Given the description of an element on the screen output the (x, y) to click on. 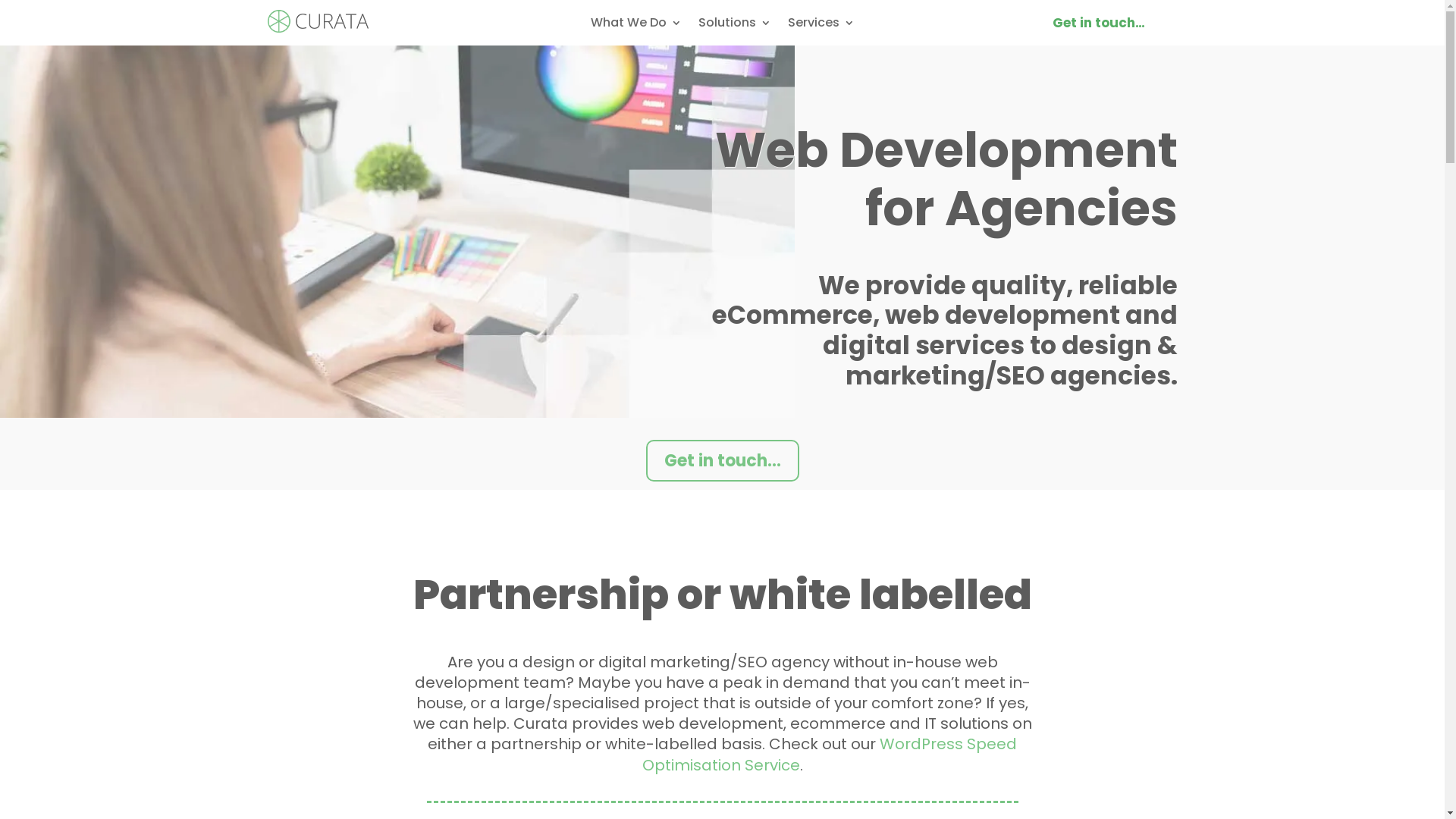
WordPress Speed Optimisation Service Element type: text (828, 754)
Services Element type: text (820, 25)
Get in touch... Element type: text (722, 460)
Curata-Logo-Web-108-150x34 Element type: hover (316, 20)
Solutions Element type: text (733, 25)
What We Do Element type: text (634, 25)
